Given the description of an element on the screen output the (x, y) to click on. 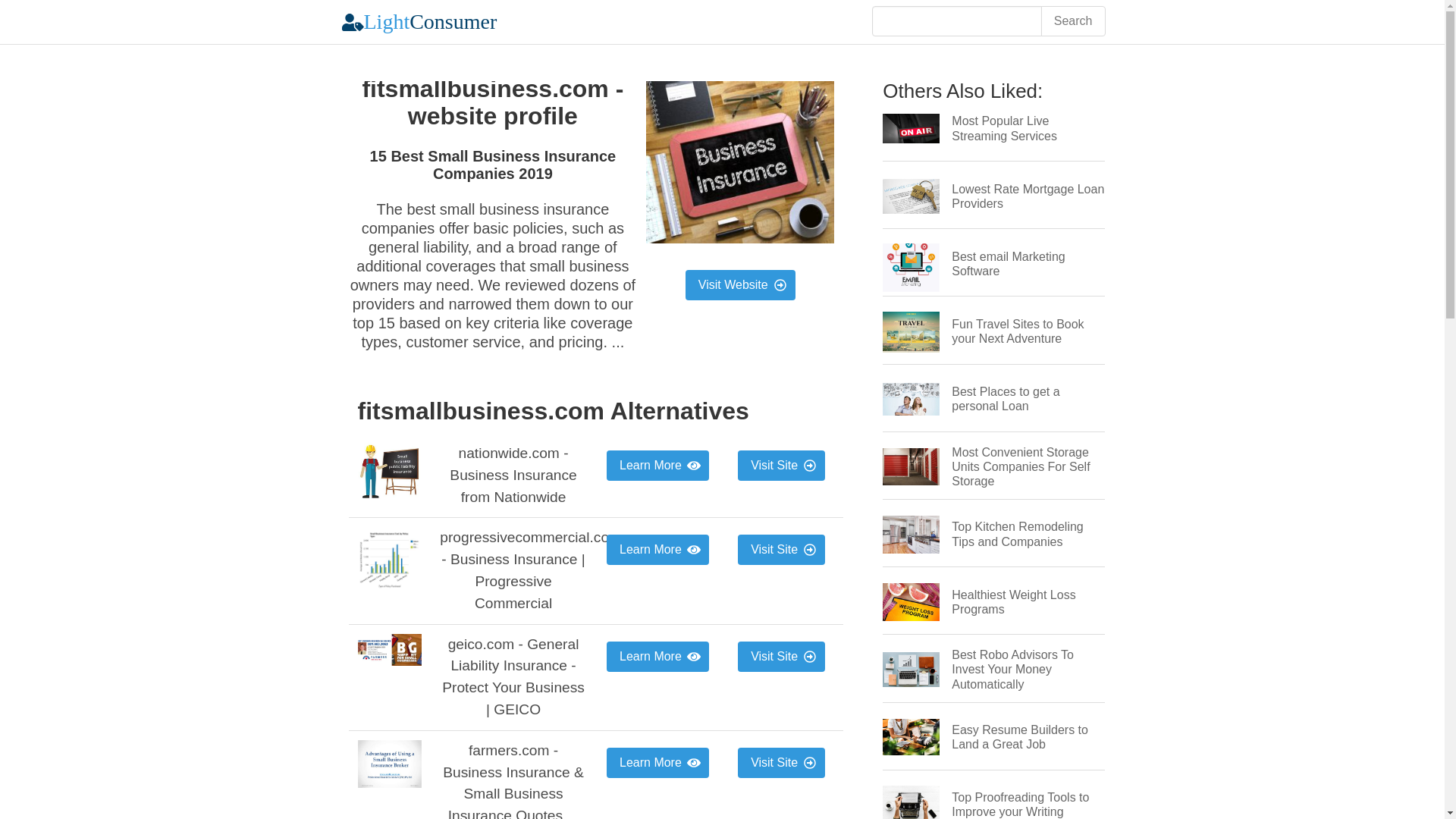
Learn More (658, 465)
Learn More (658, 656)
Visit Site (781, 549)
Search (1073, 20)
Best Places to get a personal Loan (1005, 398)
Learn More (658, 549)
Visit Site (781, 762)
Most Popular Live Streaming Services (1004, 127)
Most Convenient Storage Units Companies For Self Storage (1020, 466)
Top Kitchen Remodeling Tips and Companies (1017, 533)
